Given the description of an element on the screen output the (x, y) to click on. 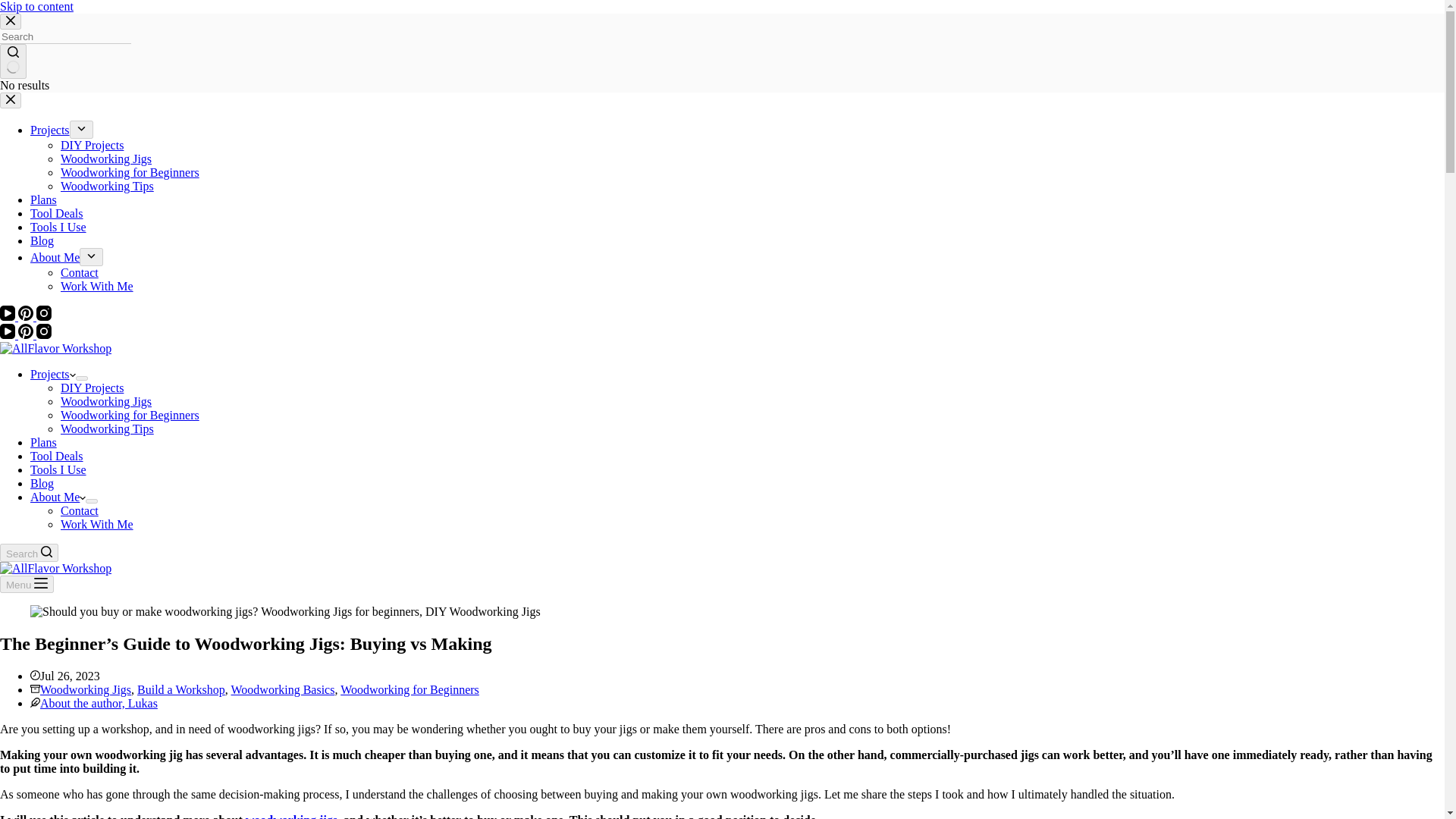
DIY Projects (92, 144)
Tool Deals (56, 213)
Contact (80, 272)
Blog (41, 482)
Contact (80, 510)
Skip to content (37, 6)
Projects (52, 373)
Work With Me (97, 523)
Tools I Use (57, 226)
Search for... (65, 37)
Work With Me (97, 286)
About Me (57, 496)
Woodworking for Beginners (130, 172)
Projects (49, 129)
About Me (55, 256)
